Given the description of an element on the screen output the (x, y) to click on. 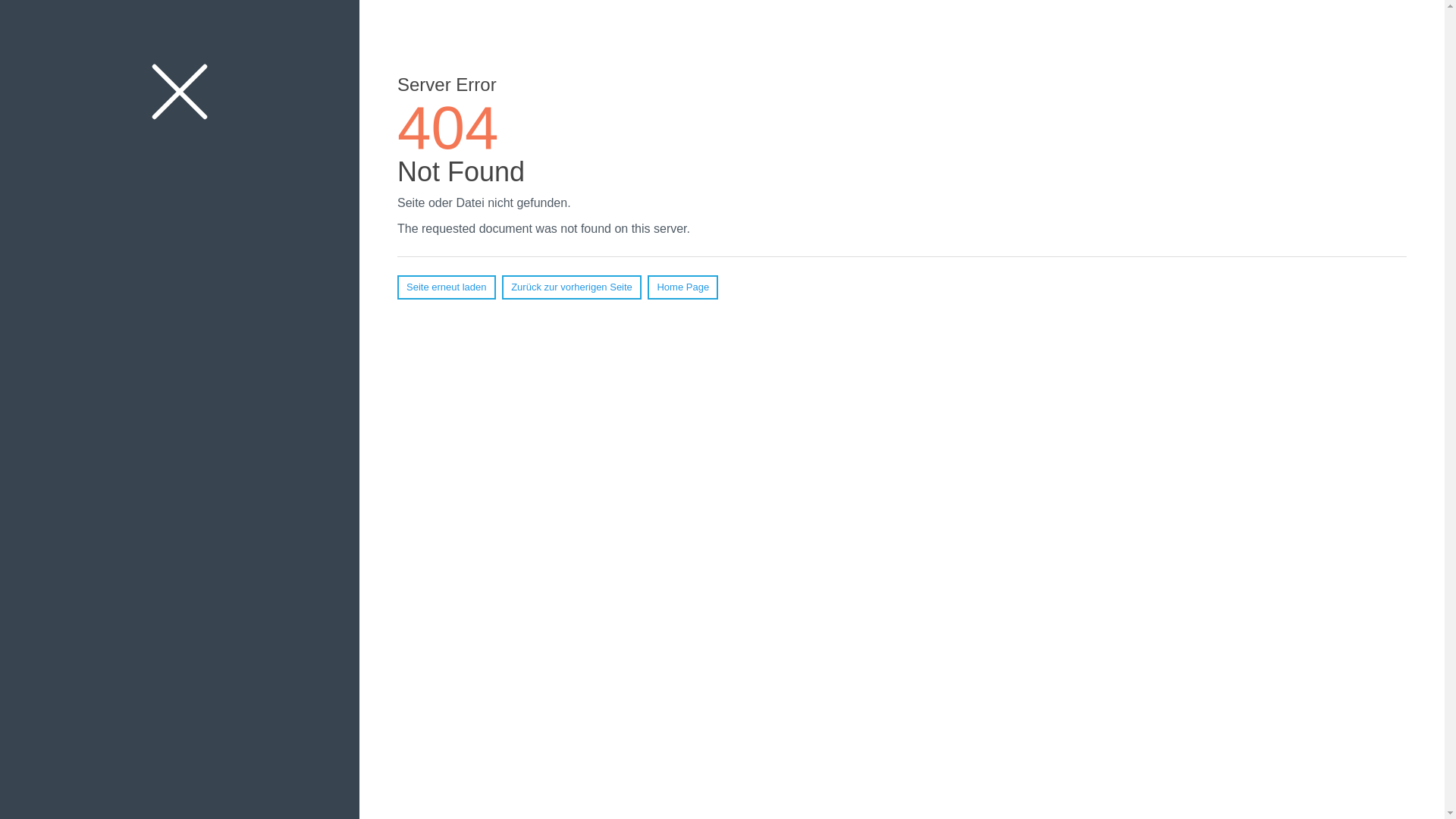
Home Page Element type: text (682, 287)
Seite erneut laden Element type: text (446, 287)
